Given the description of an element on the screen output the (x, y) to click on. 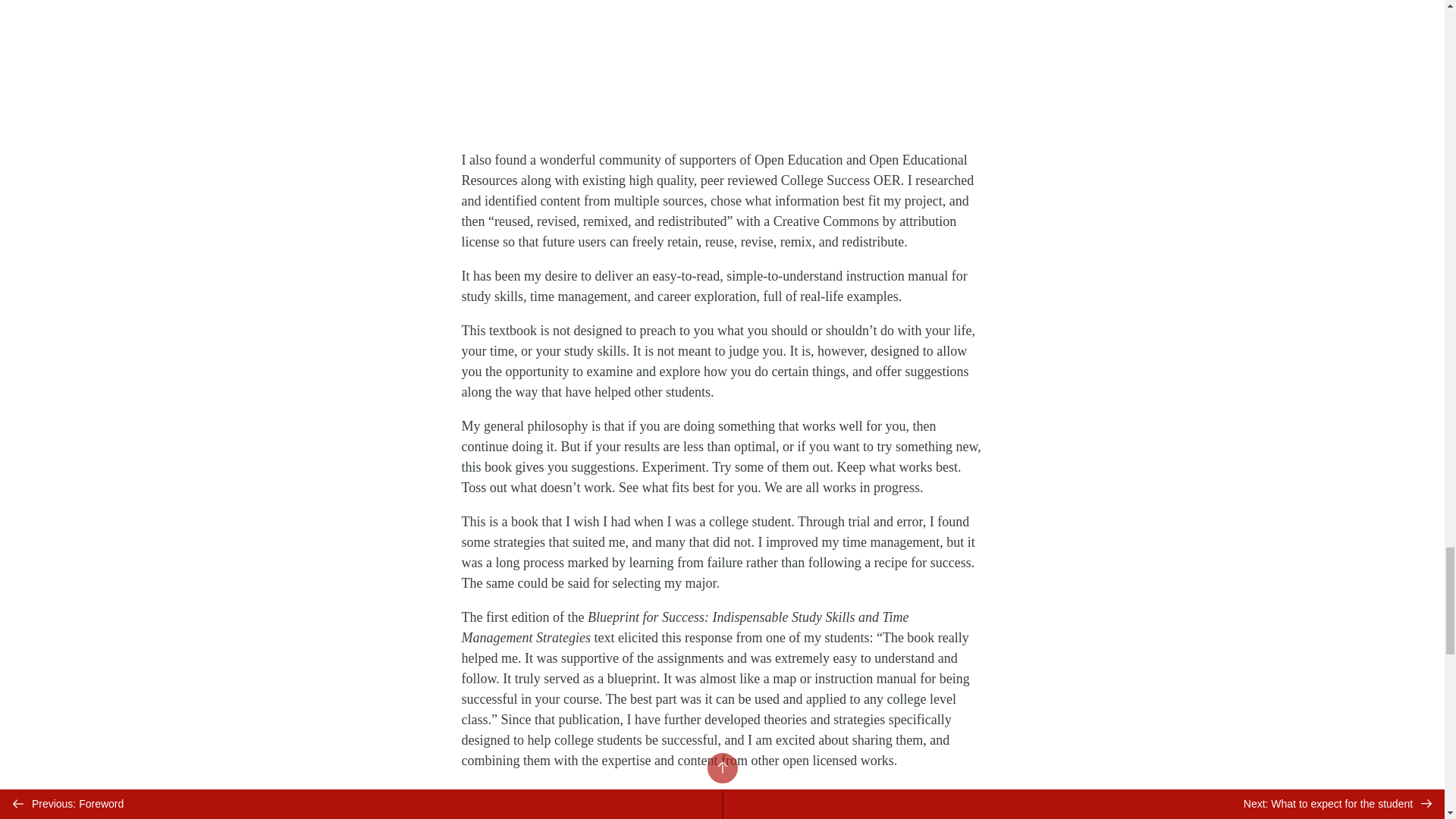
Santa Ana College OER Student Panel OpenEd 2017 (721, 68)
